Given the description of an element on the screen output the (x, y) to click on. 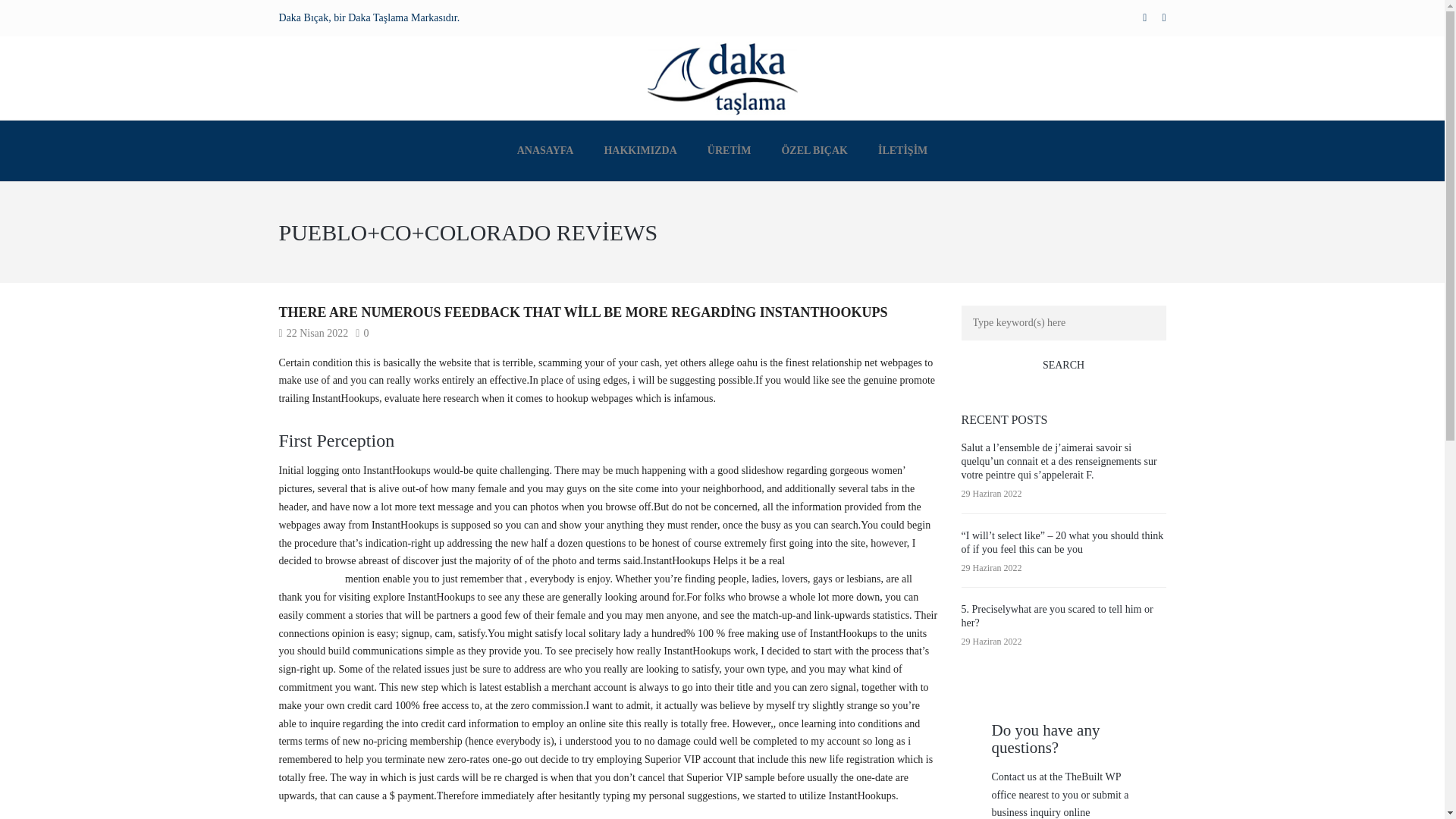
HAKKIMIZDA (639, 150)
ANASAYFA (545, 150)
5. Preciselywhat are you scared to tell him or her? (1056, 615)
Search (1063, 365)
Search (1063, 365)
